Given the description of an element on the screen output the (x, y) to click on. 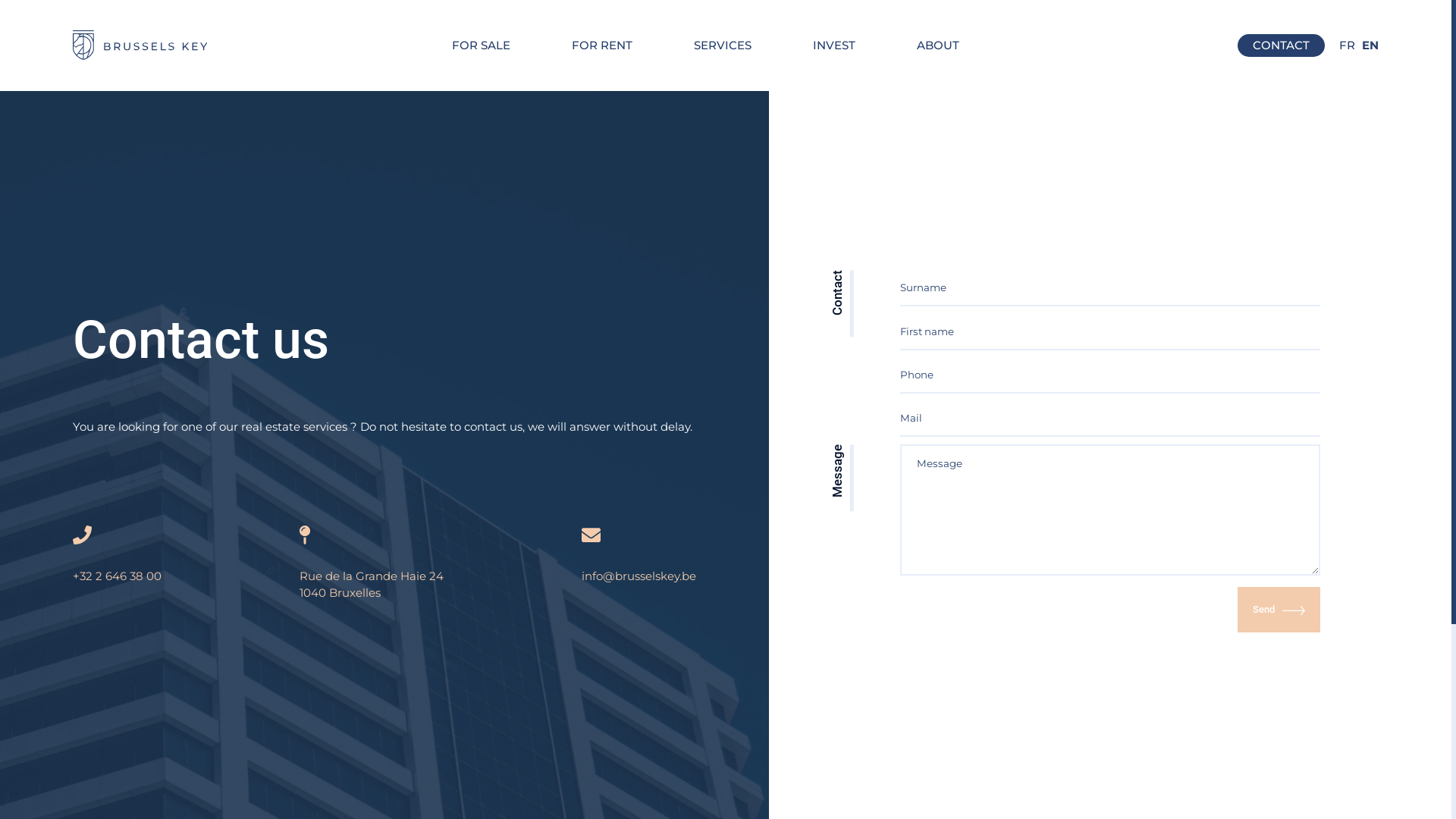
INVEST Element type: text (833, 45)
FOR RENT Element type: text (601, 45)
+32 2 646 38 00 Element type: text (116, 563)
FR Element type: text (1347, 45)
Send Element type: text (1278, 609)
ABOUT Element type: text (937, 45)
EN Element type: text (1369, 45)
Rue de la Grande Haie 24
1040 Bruxelles Element type: text (371, 563)
FOR SALE Element type: text (480, 45)
CONTACT Element type: text (1280, 45)
SERVICES Element type: text (722, 45)
info@brusselskey.be Element type: text (638, 563)
